Given the description of an element on the screen output the (x, y) to click on. 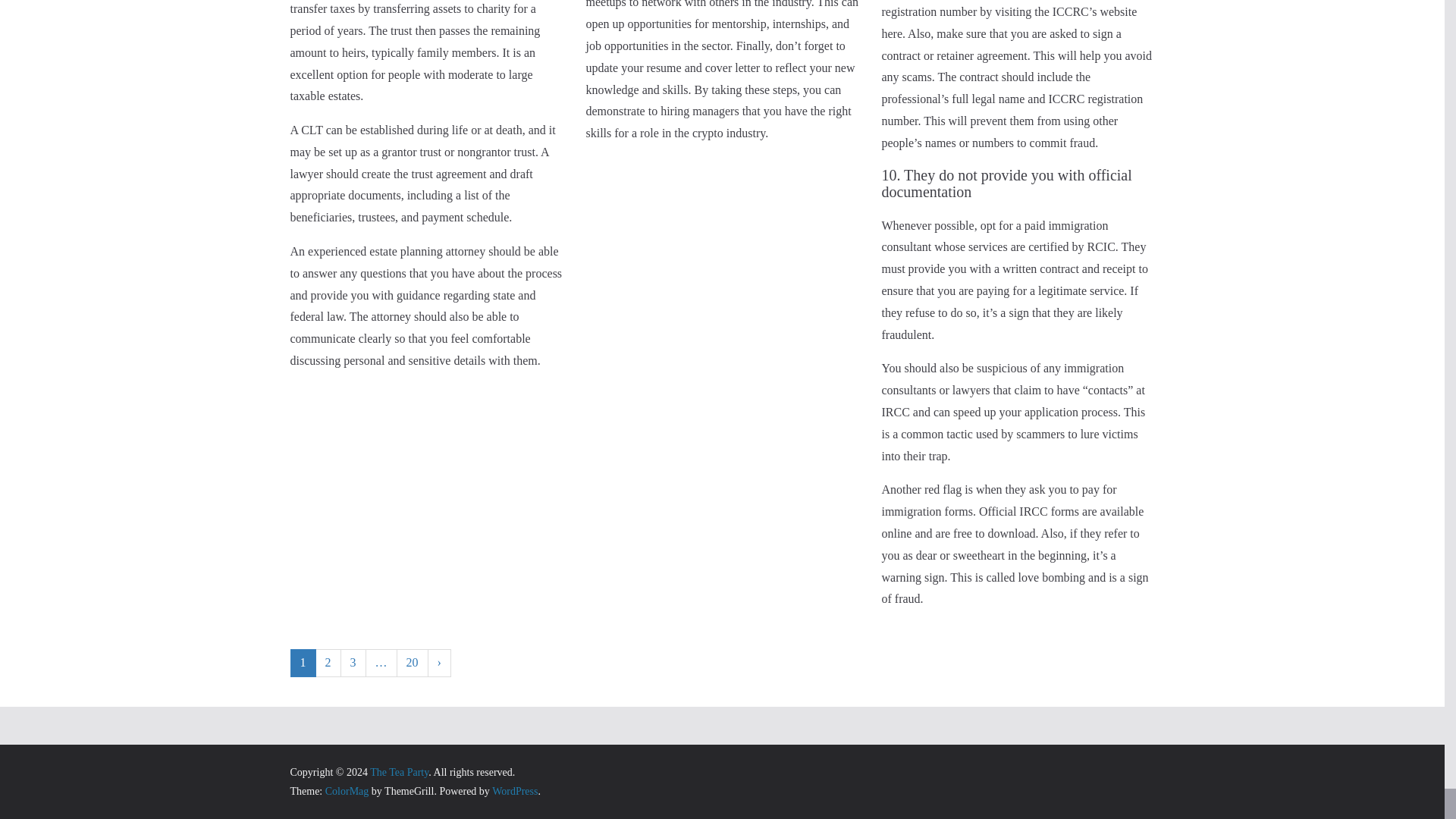
ColorMag (346, 790)
The Tea Party (398, 772)
WordPress (514, 790)
